Given the description of an element on the screen output the (x, y) to click on. 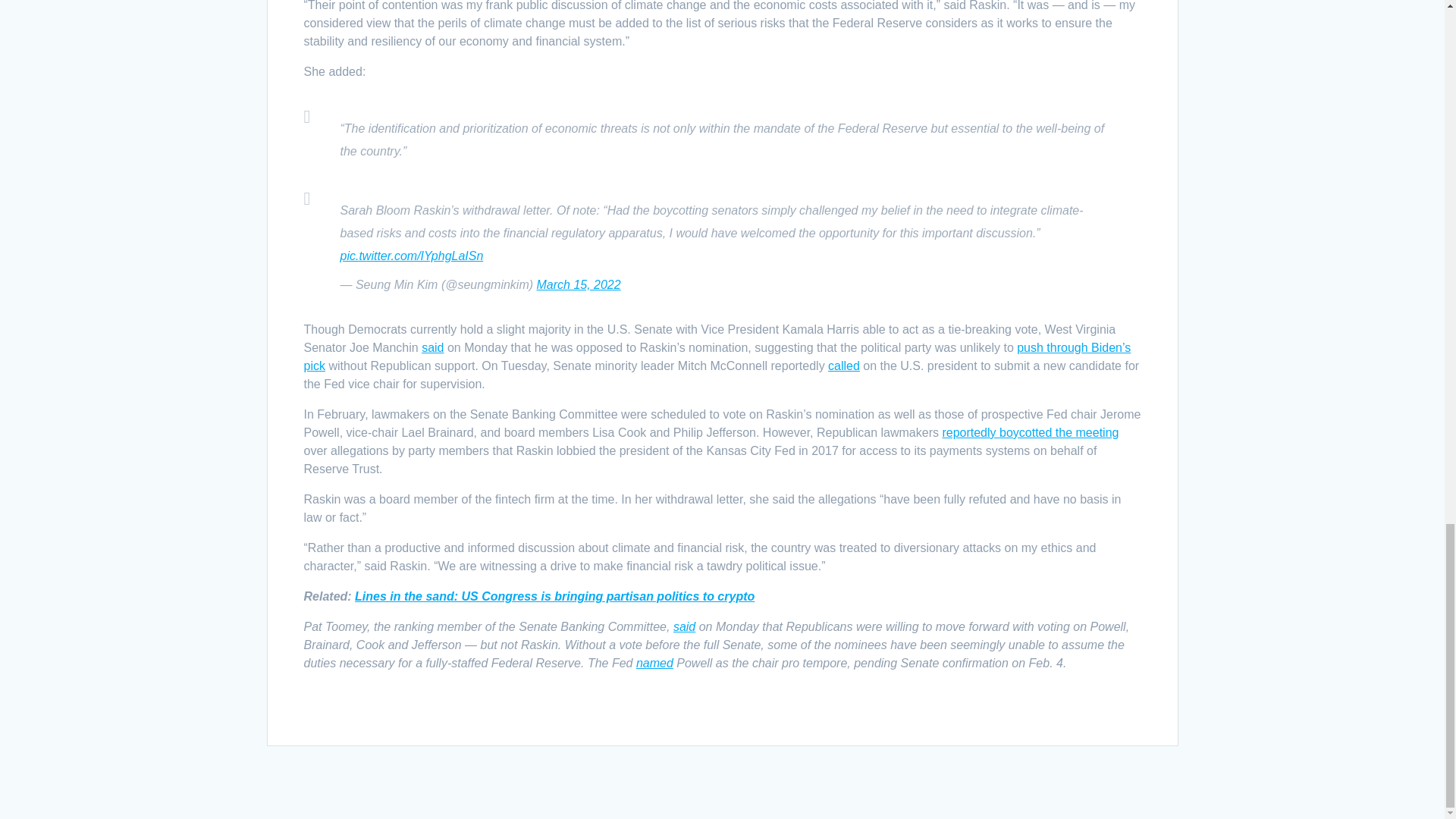
March 15, 2022 (577, 284)
said (683, 626)
named (654, 662)
called (844, 365)
reportedly boycotted the meeting (1030, 431)
said (433, 347)
